Given the description of an element on the screen output the (x, y) to click on. 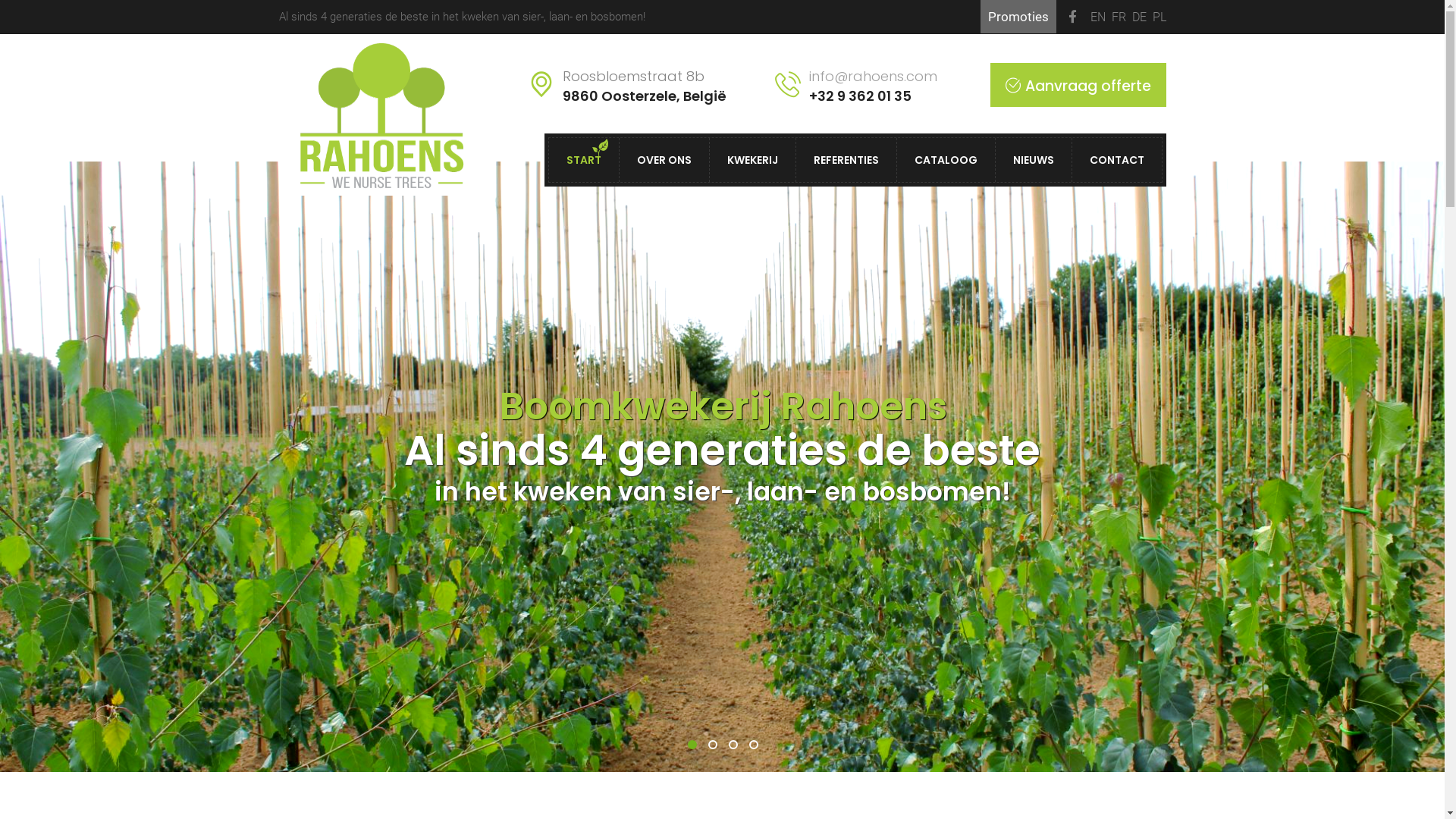
PL Element type: text (1159, 16)
EN Element type: text (1097, 16)
info@rahoens.com Element type: text (872, 75)
FR Element type: text (1118, 16)
CONTACT Element type: text (1115, 159)
KWEKERIJ Element type: text (751, 159)
CATALOOG Element type: text (945, 159)
Aanvraag offerte Element type: text (1078, 84)
OVER ONS Element type: text (664, 159)
REFERENTIES Element type: text (845, 159)
NIEUWS Element type: text (1033, 159)
DE Element type: text (1138, 16)
Promoties Element type: text (1017, 16)
START Element type: text (582, 159)
